Given the description of an element on the screen output the (x, y) to click on. 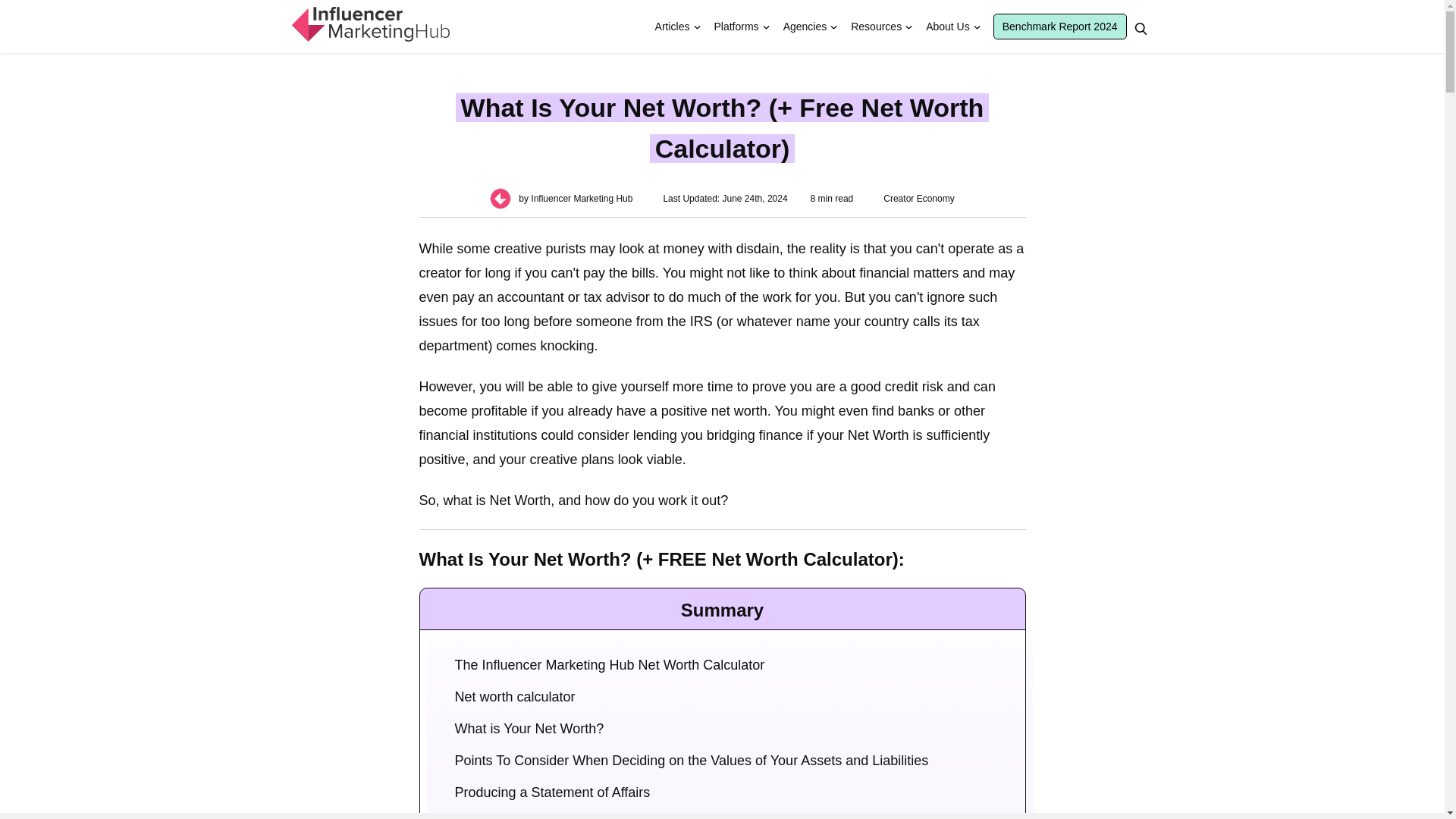
Influencer Marketing Hub (368, 24)
Platforms (736, 26)
Resources (876, 26)
Articles (672, 26)
Agencies (805, 26)
